Given the description of an element on the screen output the (x, y) to click on. 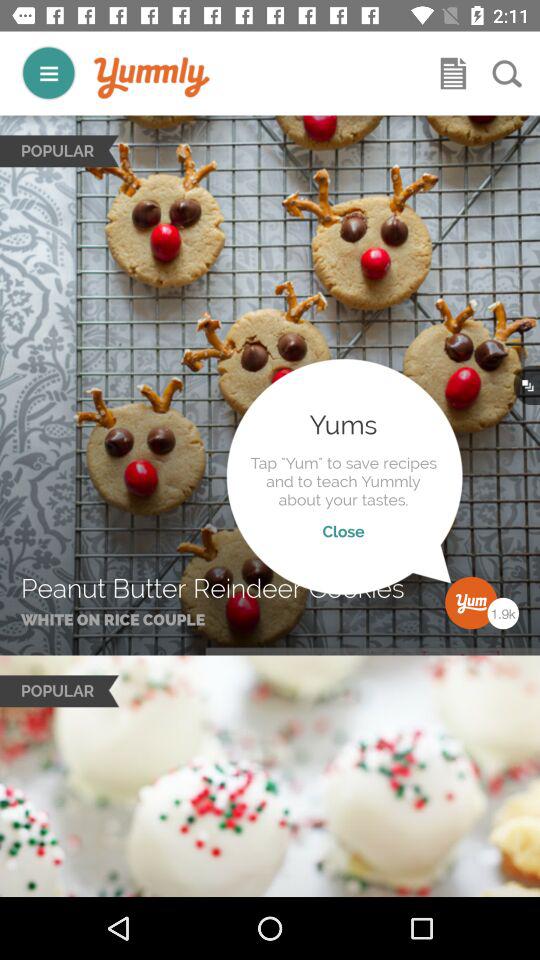
logo (152, 77)
